Given the description of an element on the screen output the (x, y) to click on. 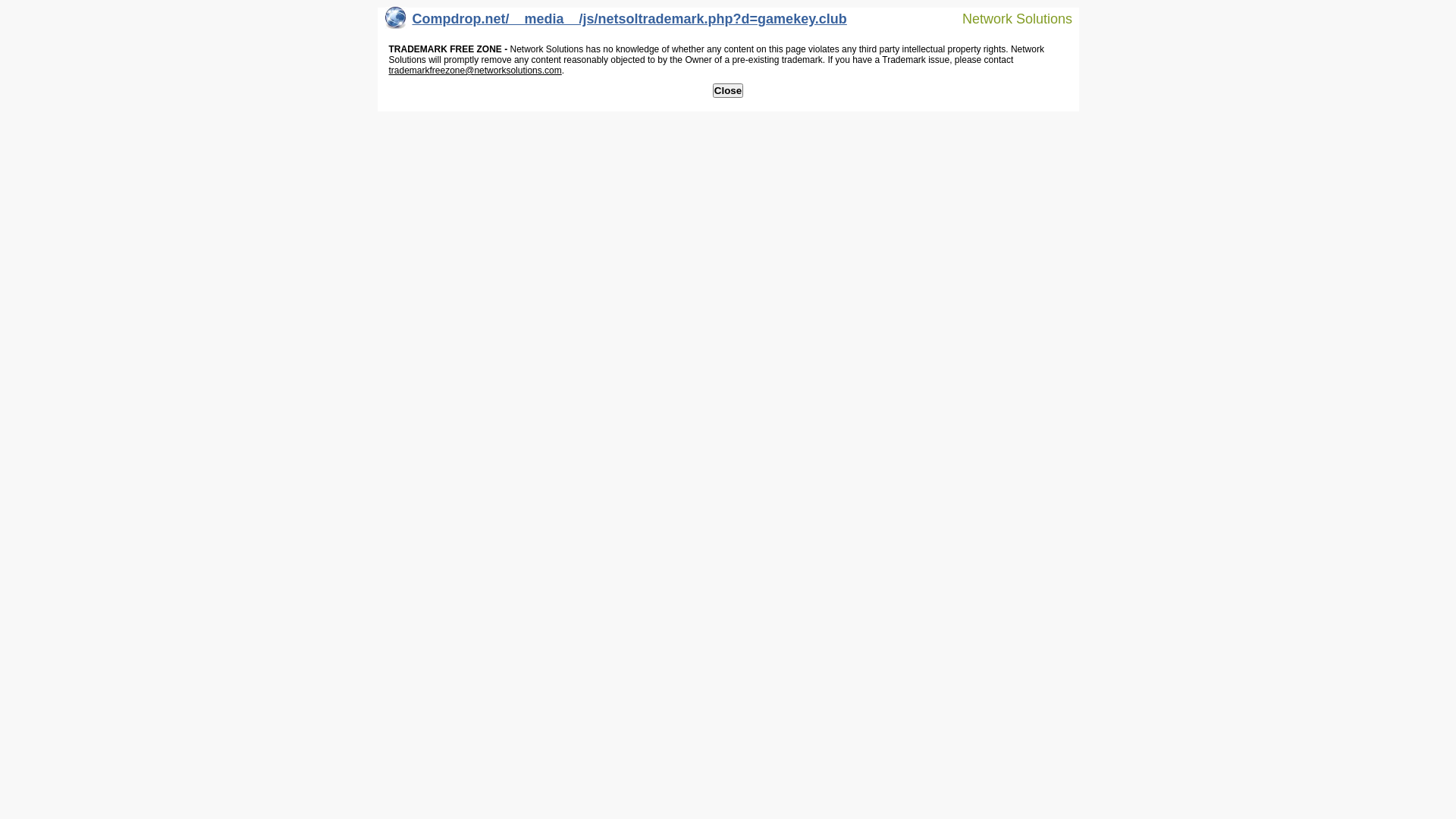
Network Solutions Element type: text (1007, 17)
Compdrop.net/__media__/js/netsoltrademark.php?d=gamekey.club Element type: text (616, 21)
trademarkfreezone@networksolutions.com Element type: text (474, 70)
Close Element type: text (727, 90)
